Given the description of an element on the screen output the (x, y) to click on. 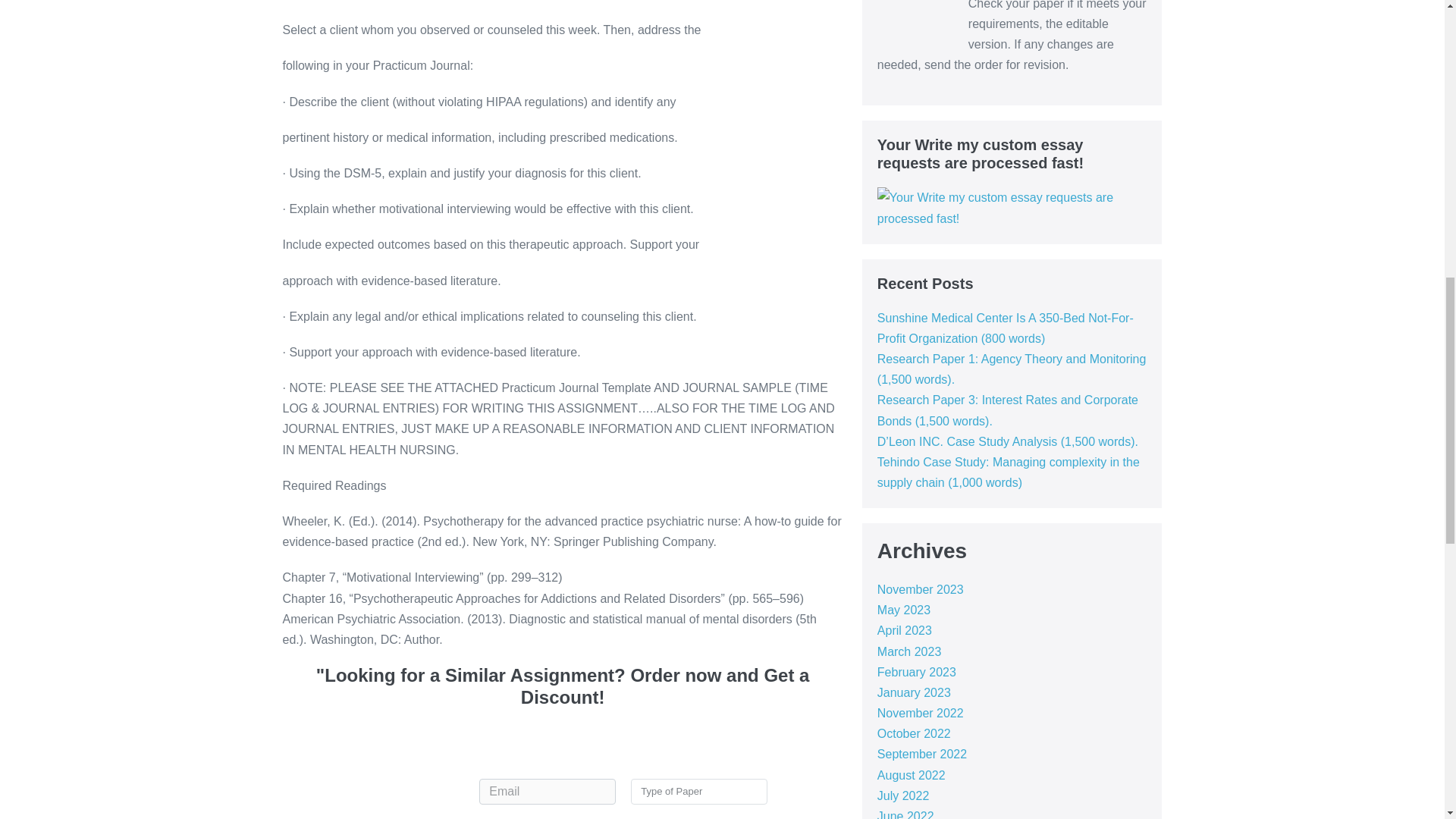
May 2023 (903, 609)
April 2023 (904, 630)
March 2023 (909, 651)
November 2023 (920, 589)
